Given the description of an element on the screen output the (x, y) to click on. 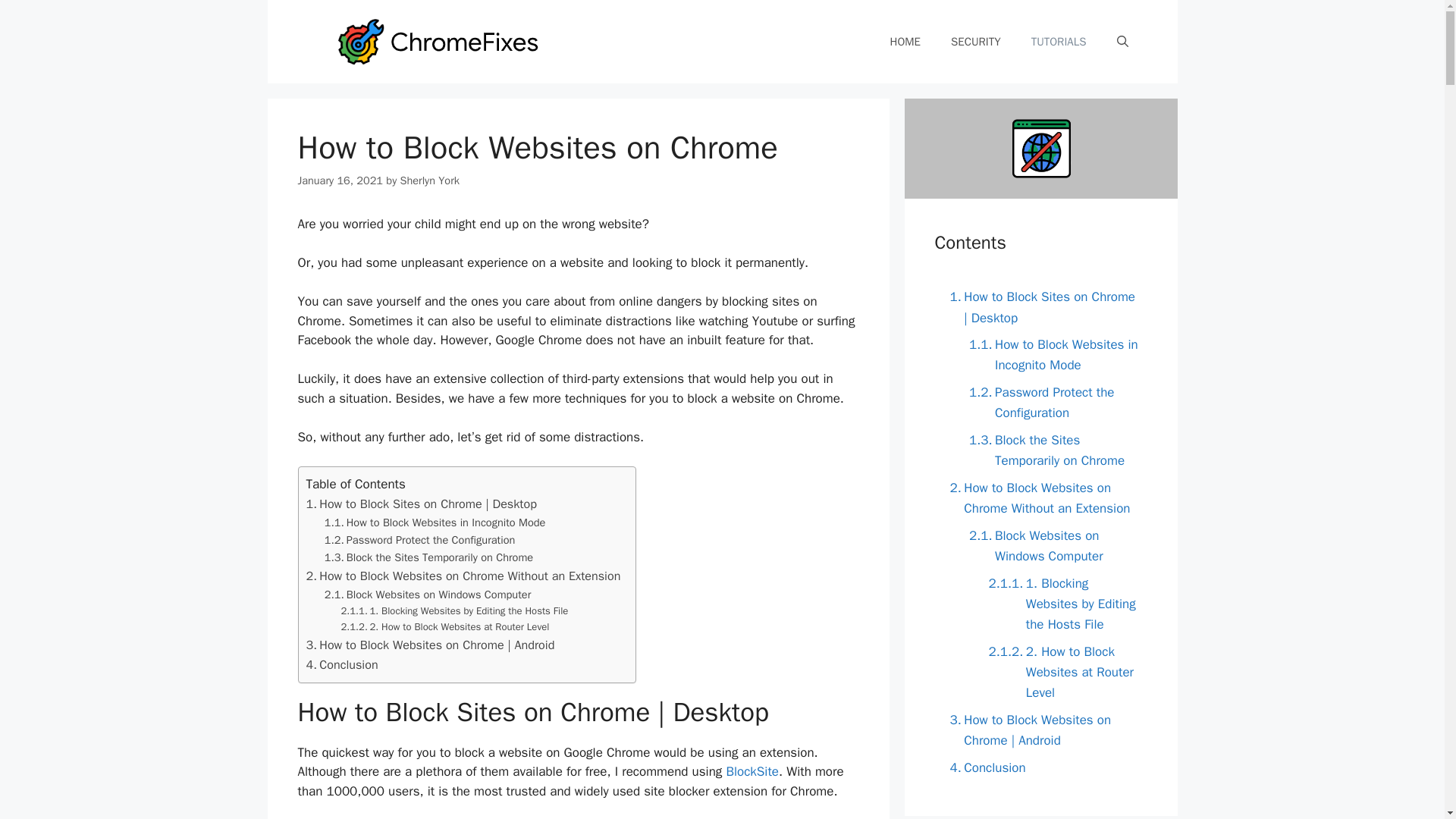
HOME (905, 41)
Conclusion (983, 767)
1. Blocking Websites by Editing the Hosts File (454, 611)
BlockSite (751, 771)
Password Protect the Configuration (1050, 402)
2. How to Block Websites at Router Level (1060, 672)
Block the Sites Temporarily on Chrome (428, 557)
How to Block Websites in Incognito Mode (435, 522)
1. Blocking Websites by Editing the Hosts File (1060, 604)
How to Block Websites in Incognito Mode (1050, 354)
